Given the description of an element on the screen output the (x, y) to click on. 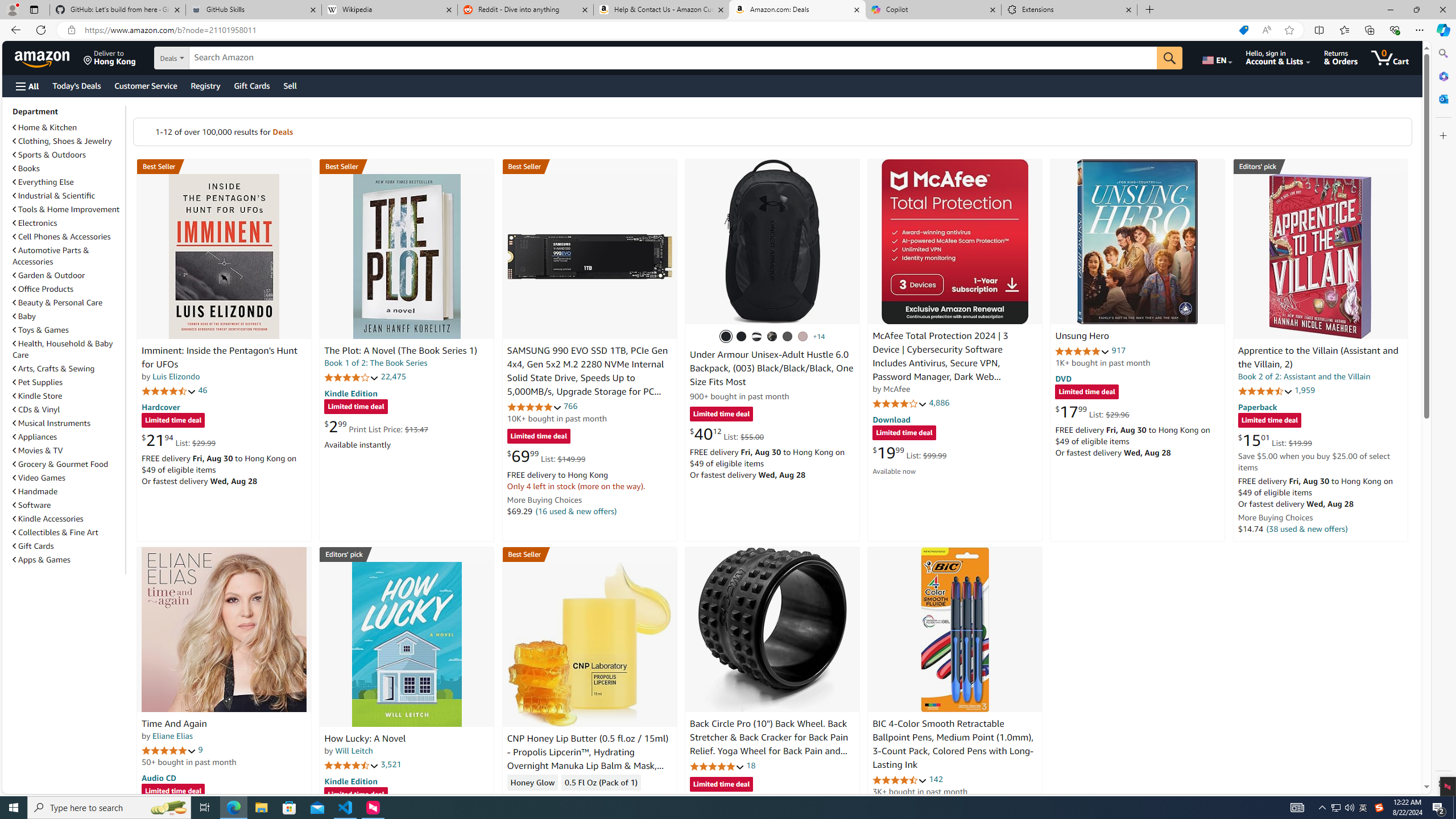
Cell Phones & Accessories (67, 236)
Health, Household & Baby Care (63, 349)
Everything Else (43, 181)
Clothing, Shoes & Jewelry (62, 140)
Kindle Accessories (67, 518)
142 (935, 778)
4,886 (938, 402)
Books (26, 167)
Collectibles & Fine Art (56, 532)
